Given the description of an element on the screen output the (x, y) to click on. 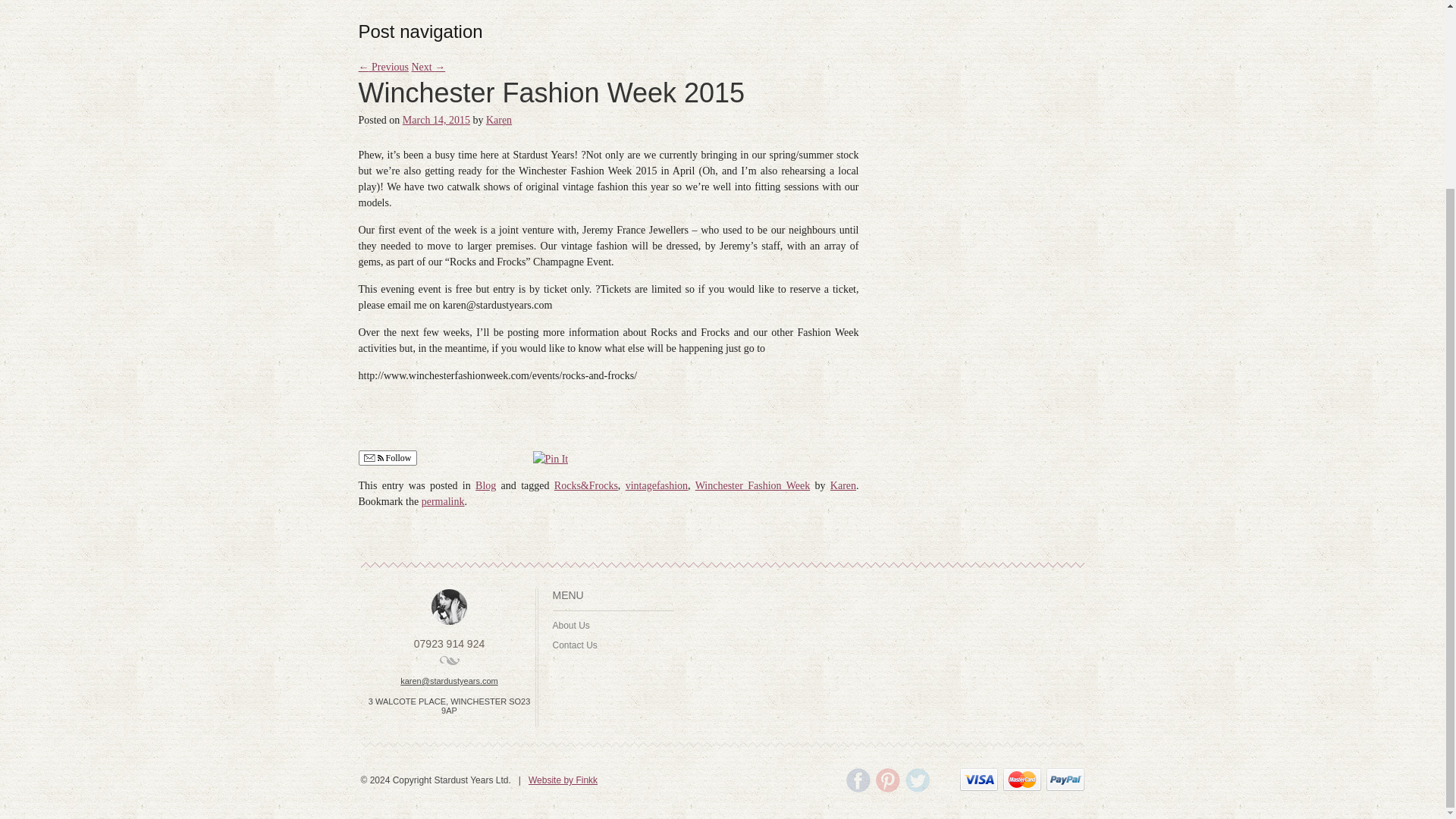
View all posts by Karen (499, 120)
Email, RSS (374, 459)
Permalink to Winchester Fashion Week 2015 (443, 501)
3:10 pm (436, 120)
